Given the description of an element on the screen output the (x, y) to click on. 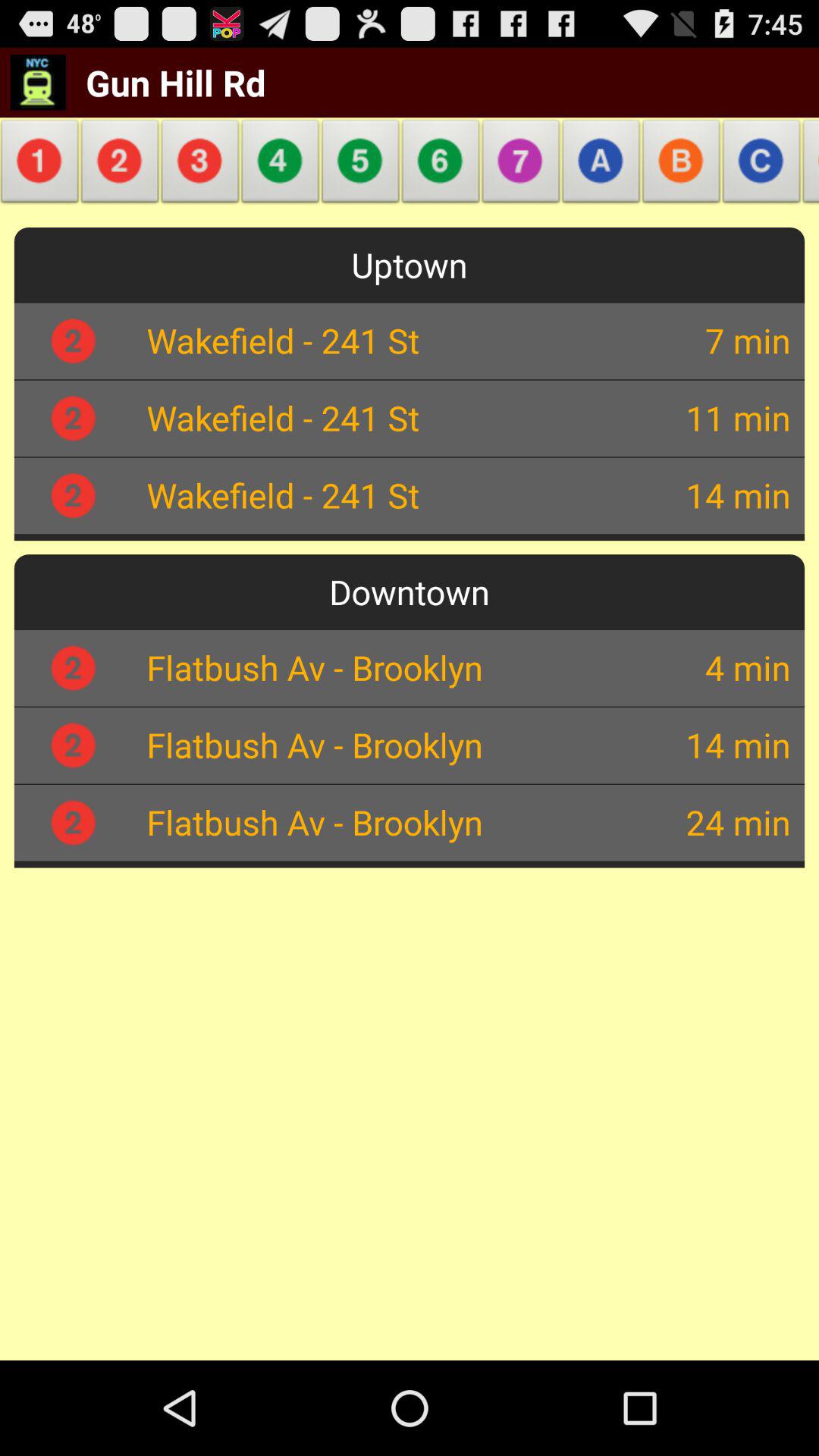
tap the icon above the uptown app (681, 165)
